Given the description of an element on the screen output the (x, y) to click on. 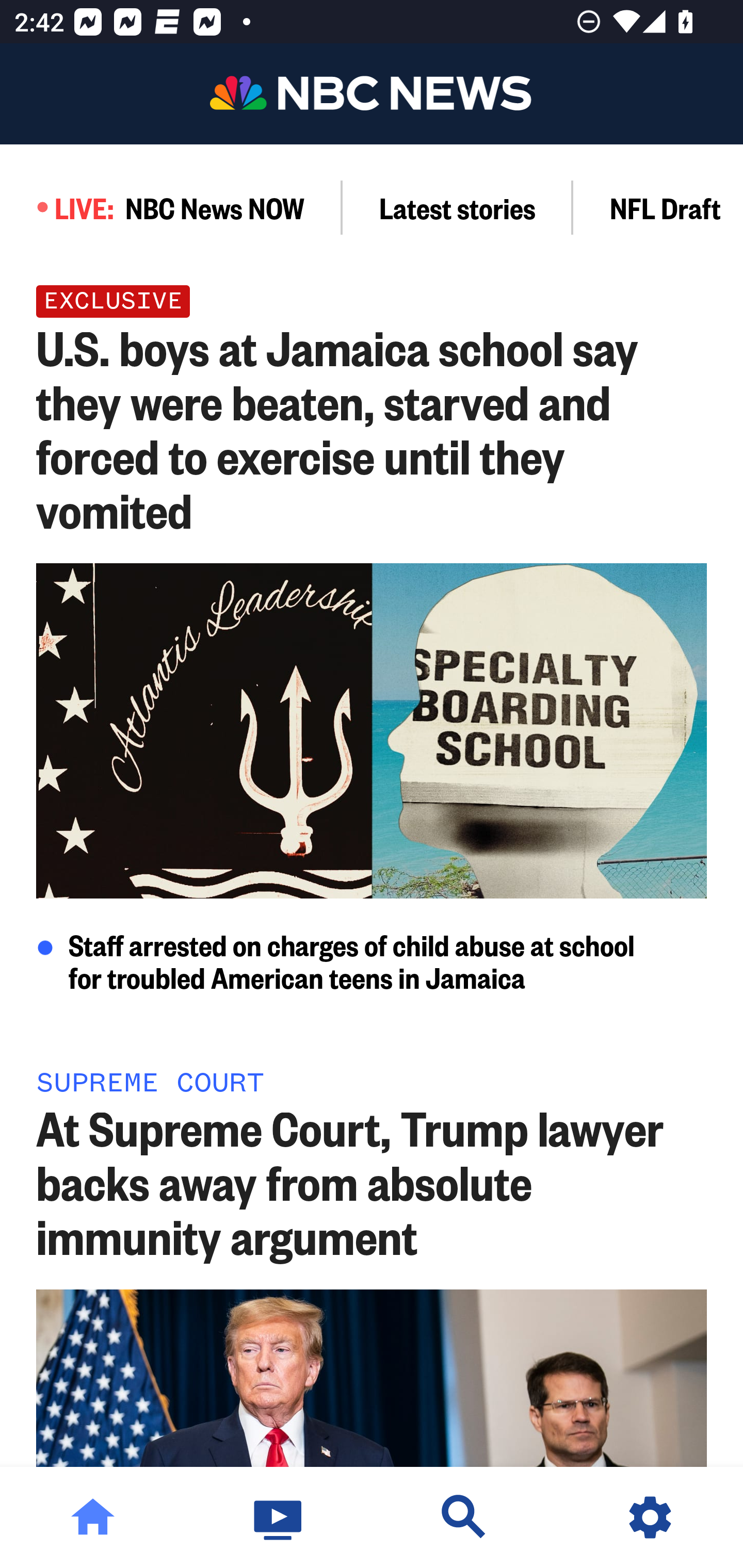
LIVE:  NBC News NOW (171, 207)
Latest stories Section,Latest stories (457, 207)
NFL Draft (658, 207)
Watch (278, 1517)
Discover (464, 1517)
Settings (650, 1517)
